Given the description of an element on the screen output the (x, y) to click on. 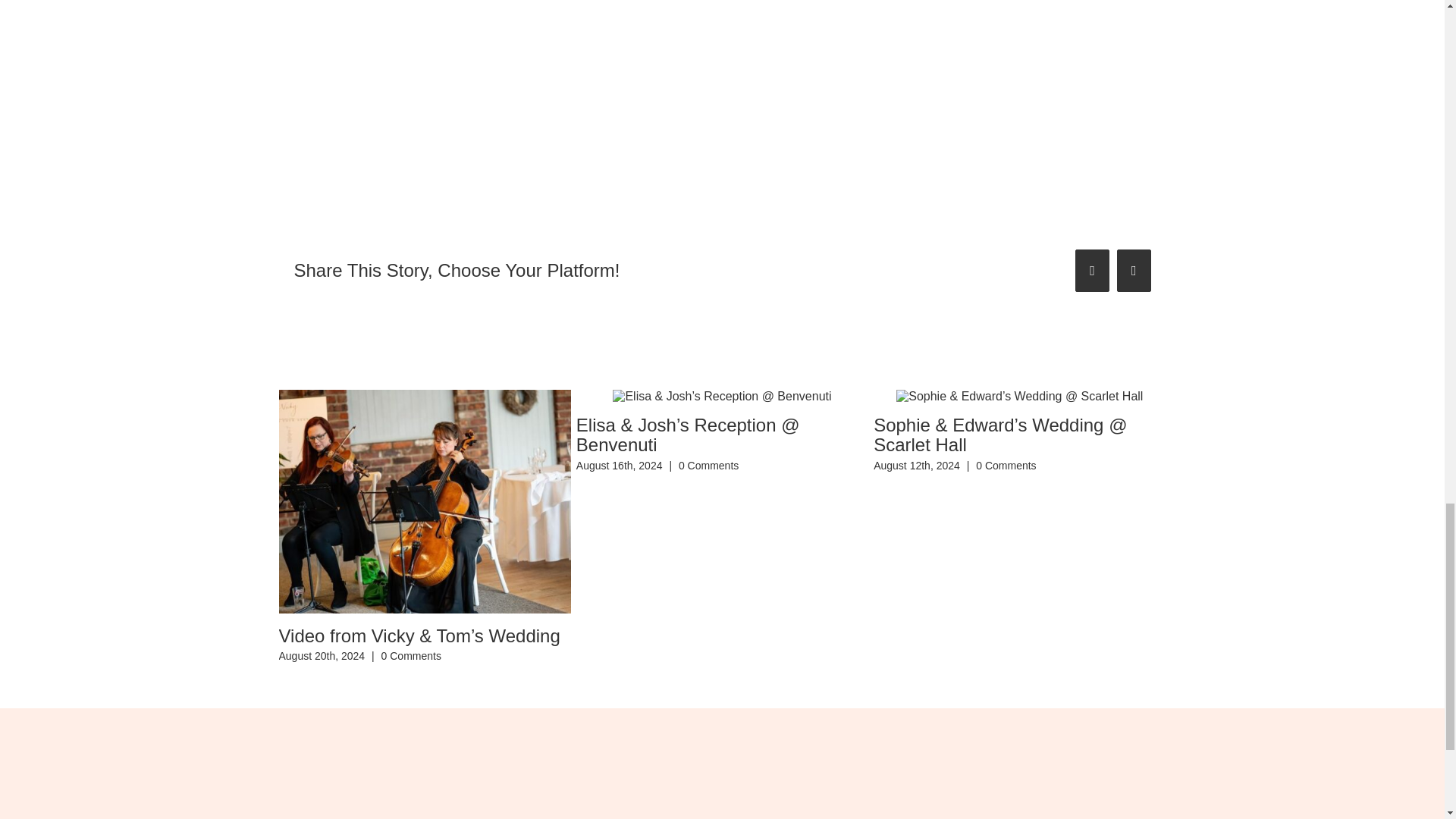
0 Comments (708, 465)
0 Comments (411, 655)
0 Comments (1005, 465)
